Given the description of an element on the screen output the (x, y) to click on. 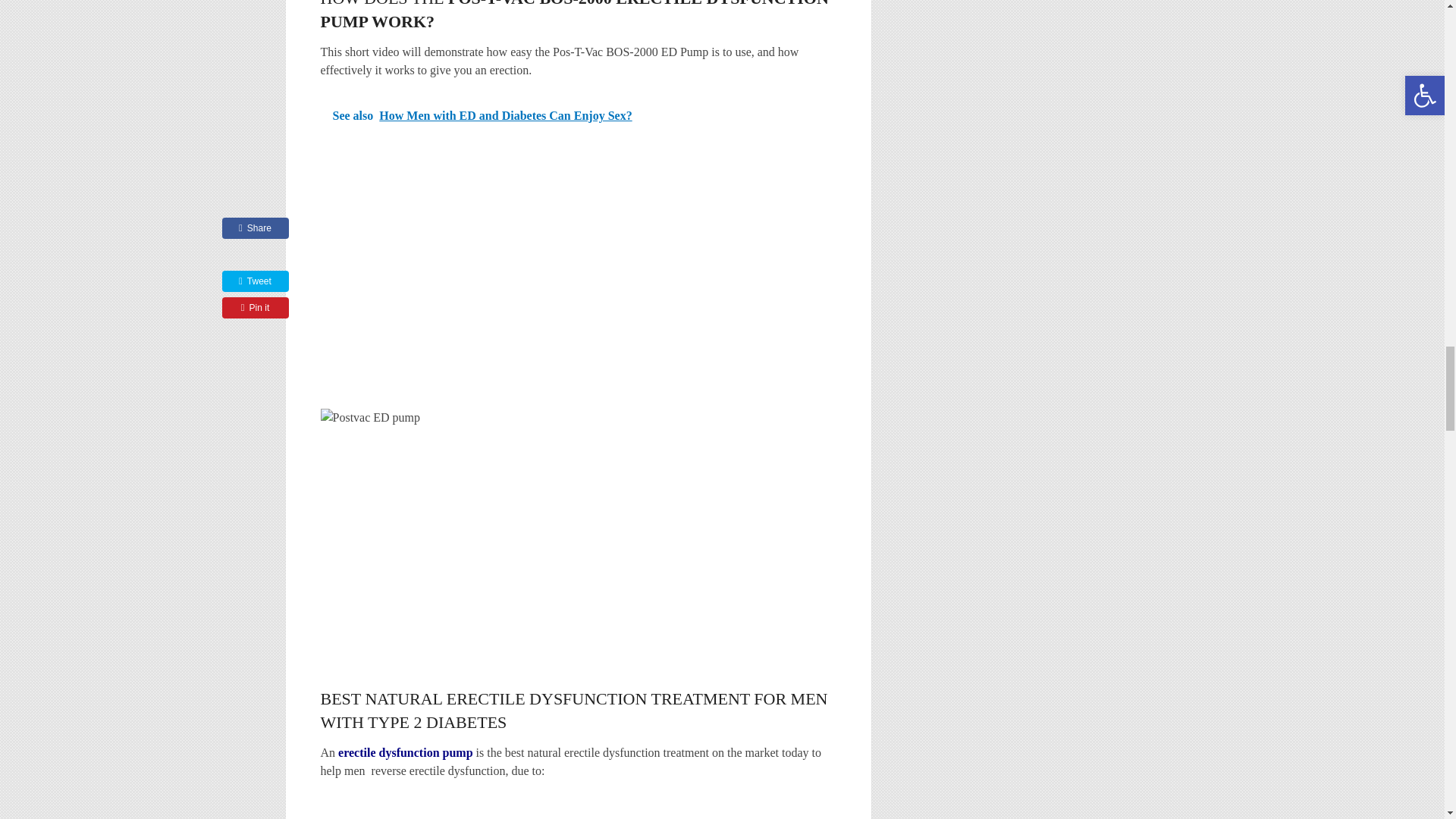
See also  How Men with ED and Diabetes Can Enjoy Sex? (577, 116)
erectile dysfunction pump (404, 752)
erectile dysfunction pump (404, 752)
how to use an ED pump to increase penis size (577, 523)
